Given the description of an element on the screen output the (x, y) to click on. 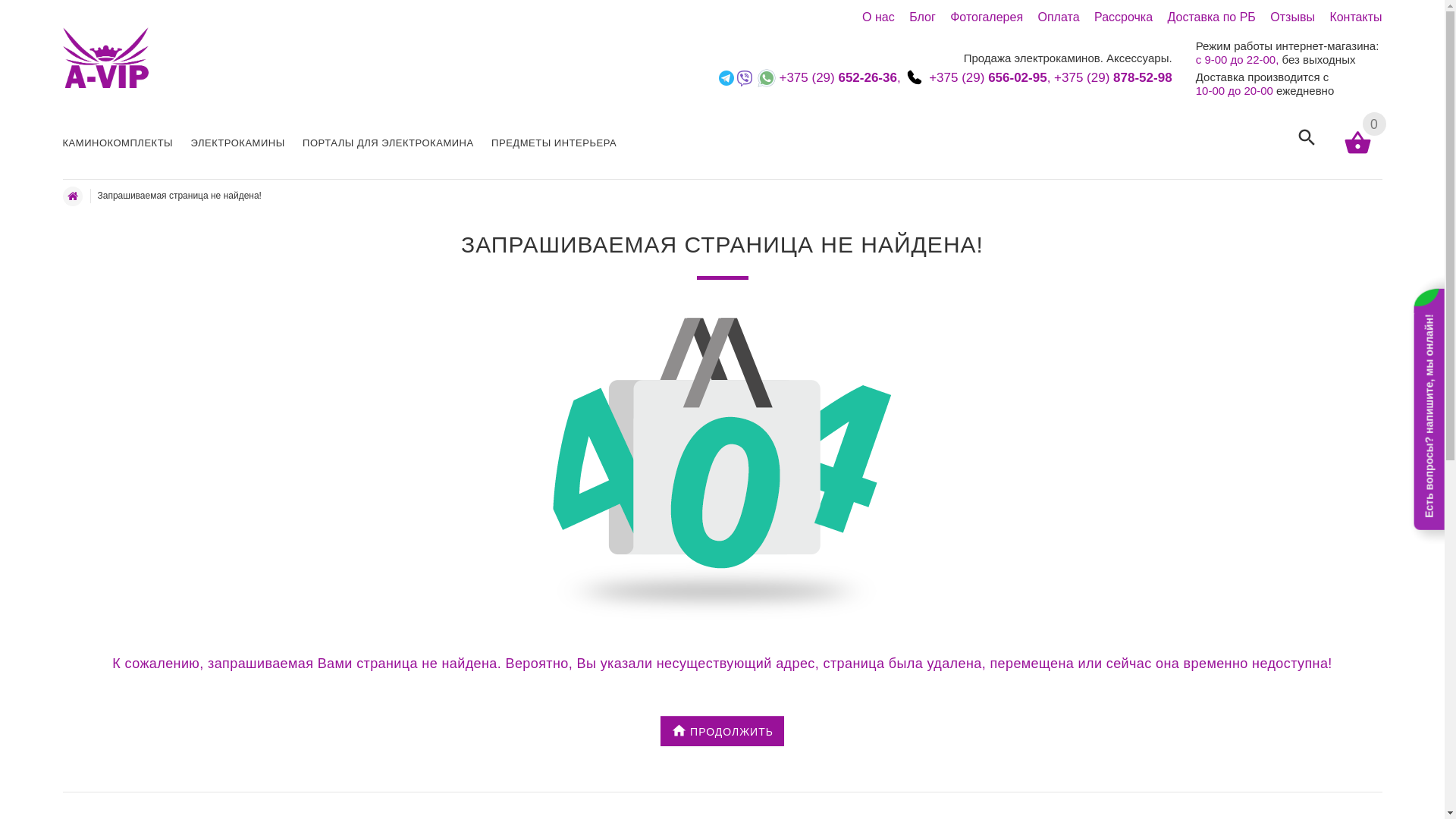
+375 (29) 656-02-95 Element type: text (987, 77)
+375 (29) 652-26-36 Element type: text (837, 77)
0 Element type: text (1356, 145)
A-VIP.by Element type: hover (105, 57)
+375 (29) 878-52-98 Element type: text (1113, 77)
